Given the description of an element on the screen output the (x, y) to click on. 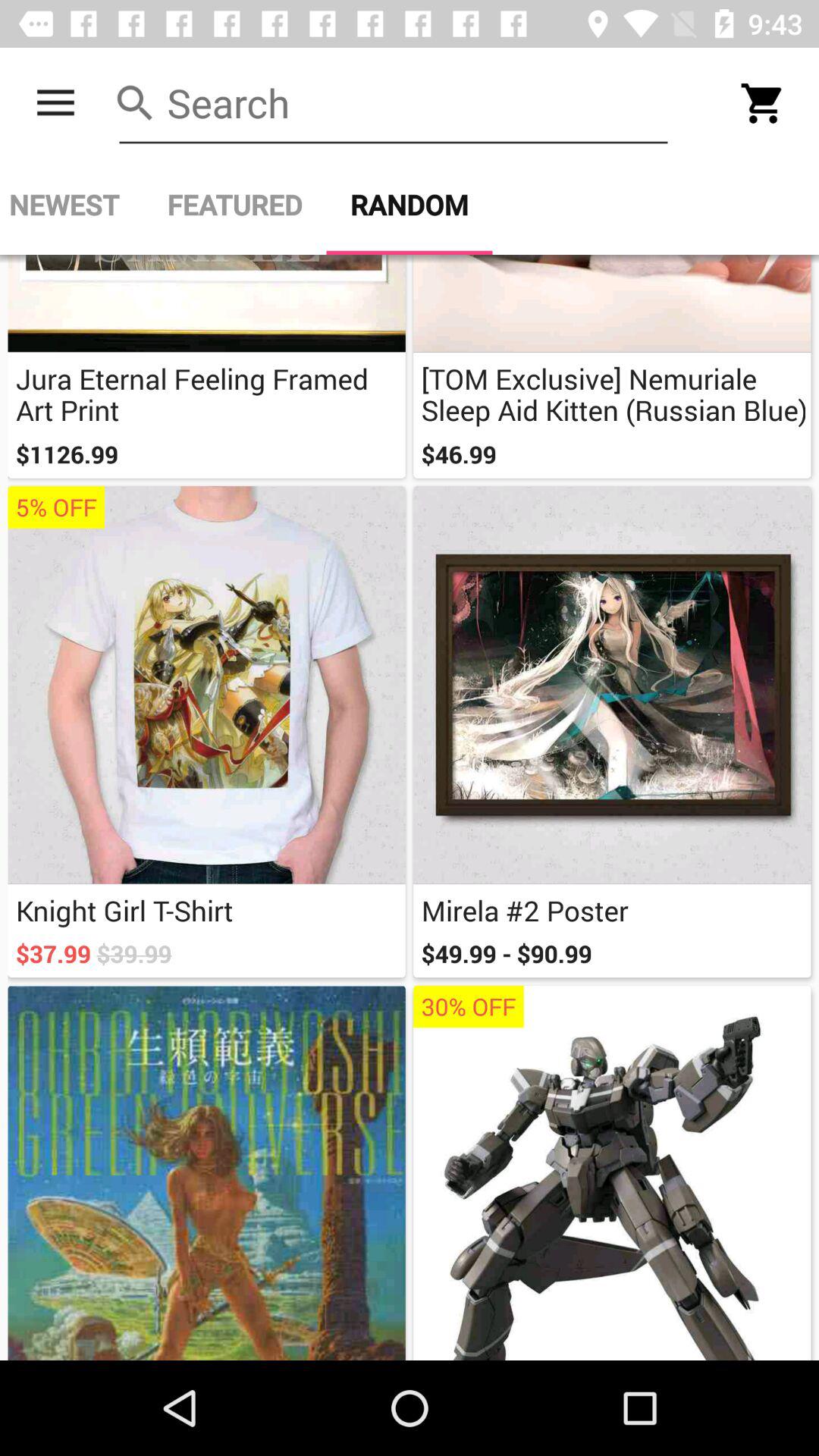
click on the second right image from bottom (612, 731)
click on the first left image from bottom (206, 1172)
click on first image at bottom of the page (206, 1172)
click on the second image in the second row (612, 684)
click on the button which is next to the newest (234, 204)
select the icon which is left side of the search (134, 103)
